Given the description of an element on the screen output the (x, y) to click on. 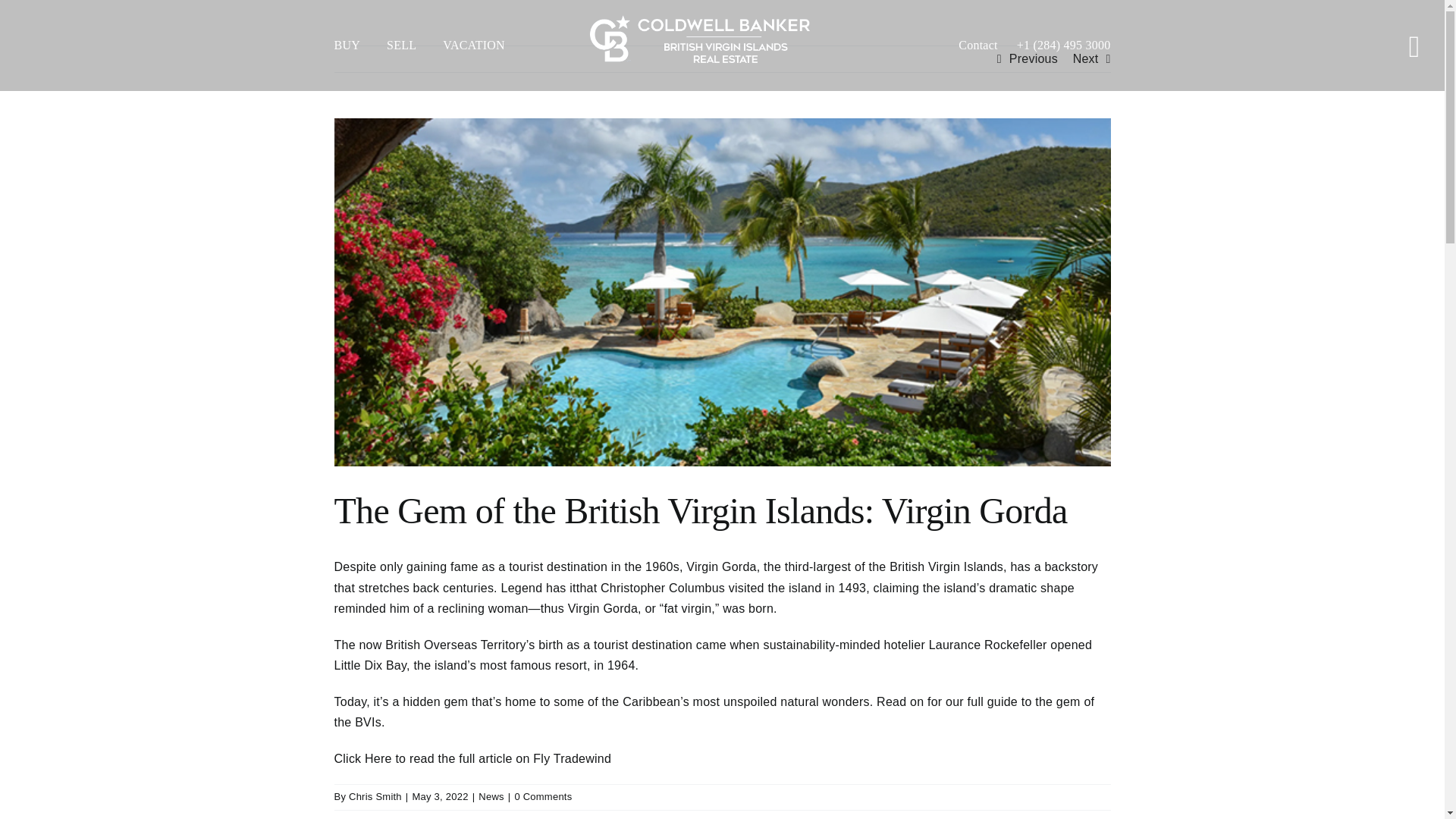
Posts by Chris Smith (375, 796)
Next (1086, 58)
VACATION (486, 45)
Previous (1033, 58)
Virgin Gorda (720, 566)
